Given the description of an element on the screen output the (x, y) to click on. 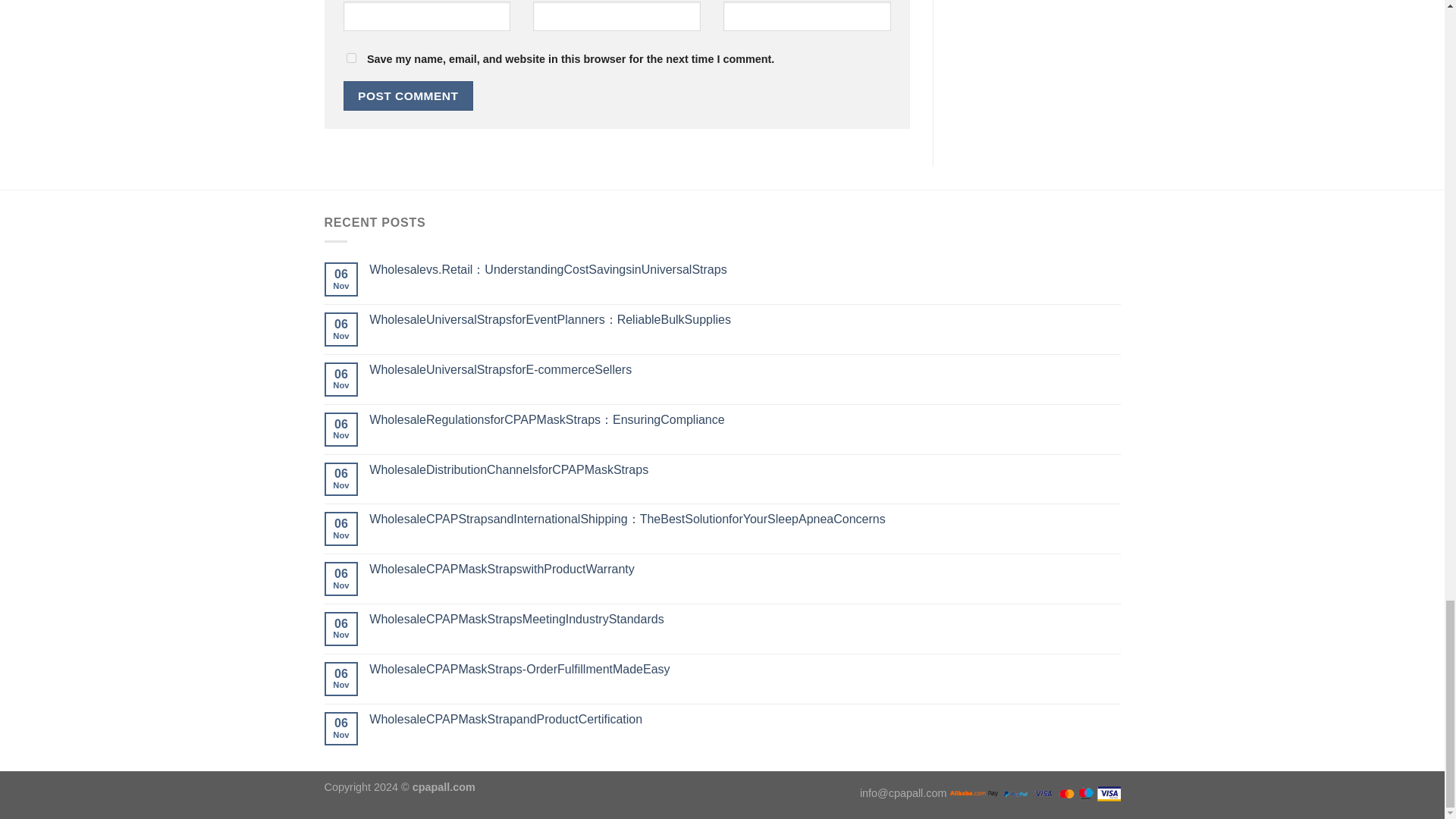
WholesaleUniversalStrapsforE-commerceSellers (744, 369)
WholesaleDistributionChannelsforCPAPMaskStraps (744, 469)
yes (350, 58)
Post Comment (407, 95)
Post Comment (407, 95)
